Given the description of an element on the screen output the (x, y) to click on. 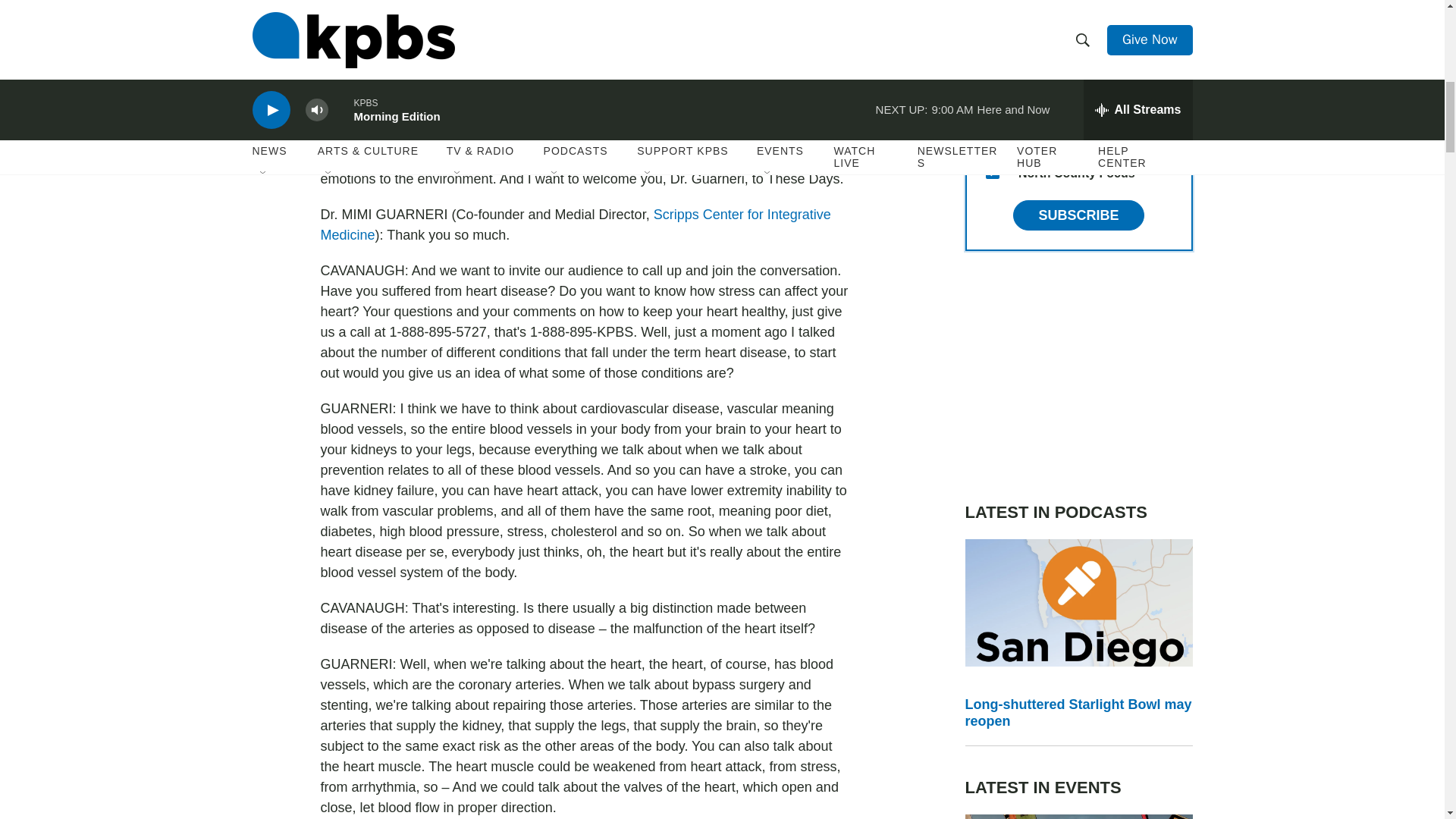
2 (991, 62)
6 (991, 26)
8 (991, 135)
1 (991, 99)
15 (991, 172)
